Given the description of an element on the screen output the (x, y) to click on. 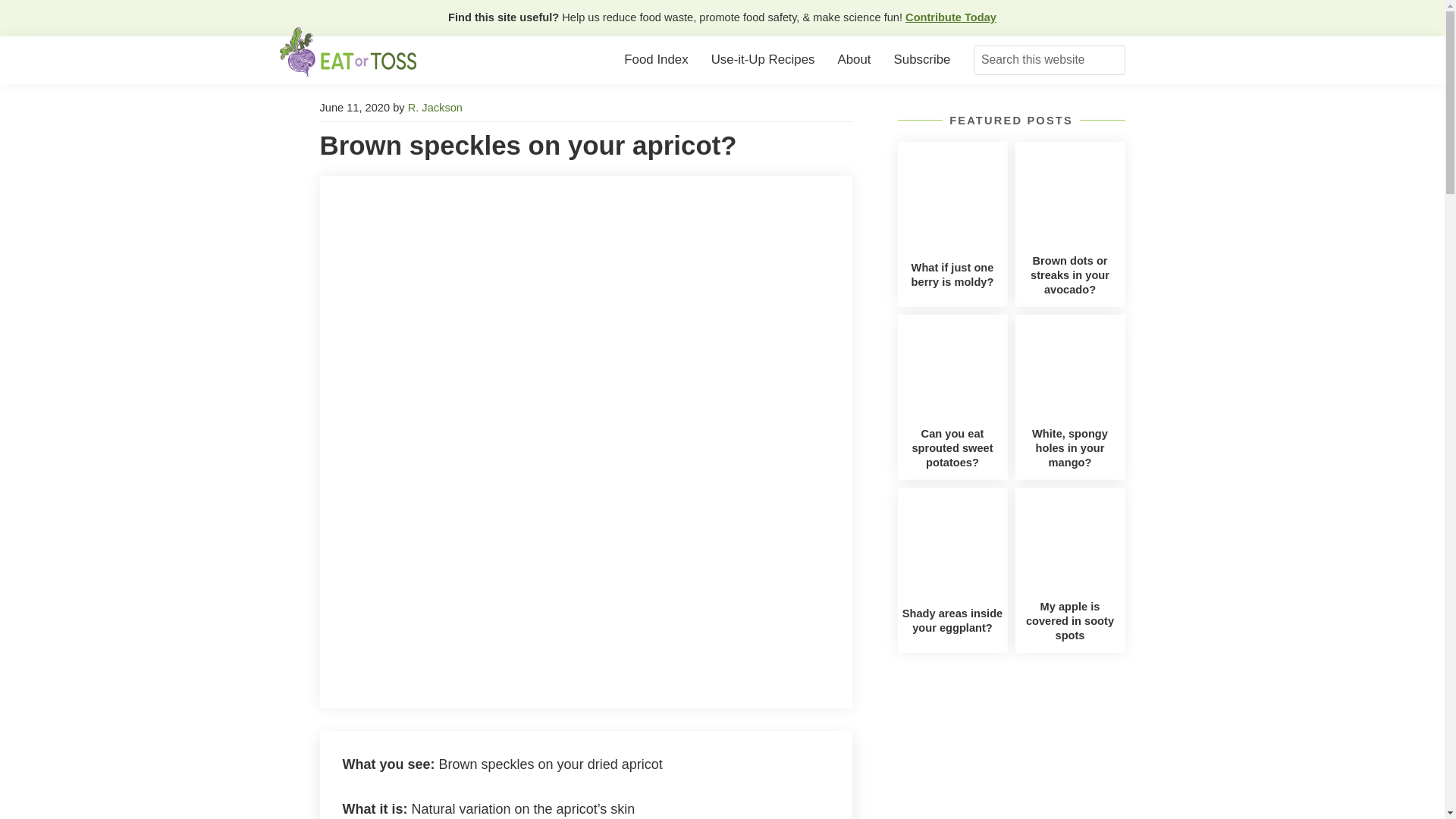
Submit search (1111, 60)
Use-it-Up Recipes (763, 60)
Brown dots or streaks in your avocado? (1070, 275)
Submit search (1111, 60)
R. Jackson (435, 107)
Submit search (1111, 60)
Can you eat sprouted sweet potatoes? (952, 448)
Contribute Today (950, 17)
Subscribe (922, 60)
What if just one berry is moldy? (952, 275)
